Given the description of an element on the screen output the (x, y) to click on. 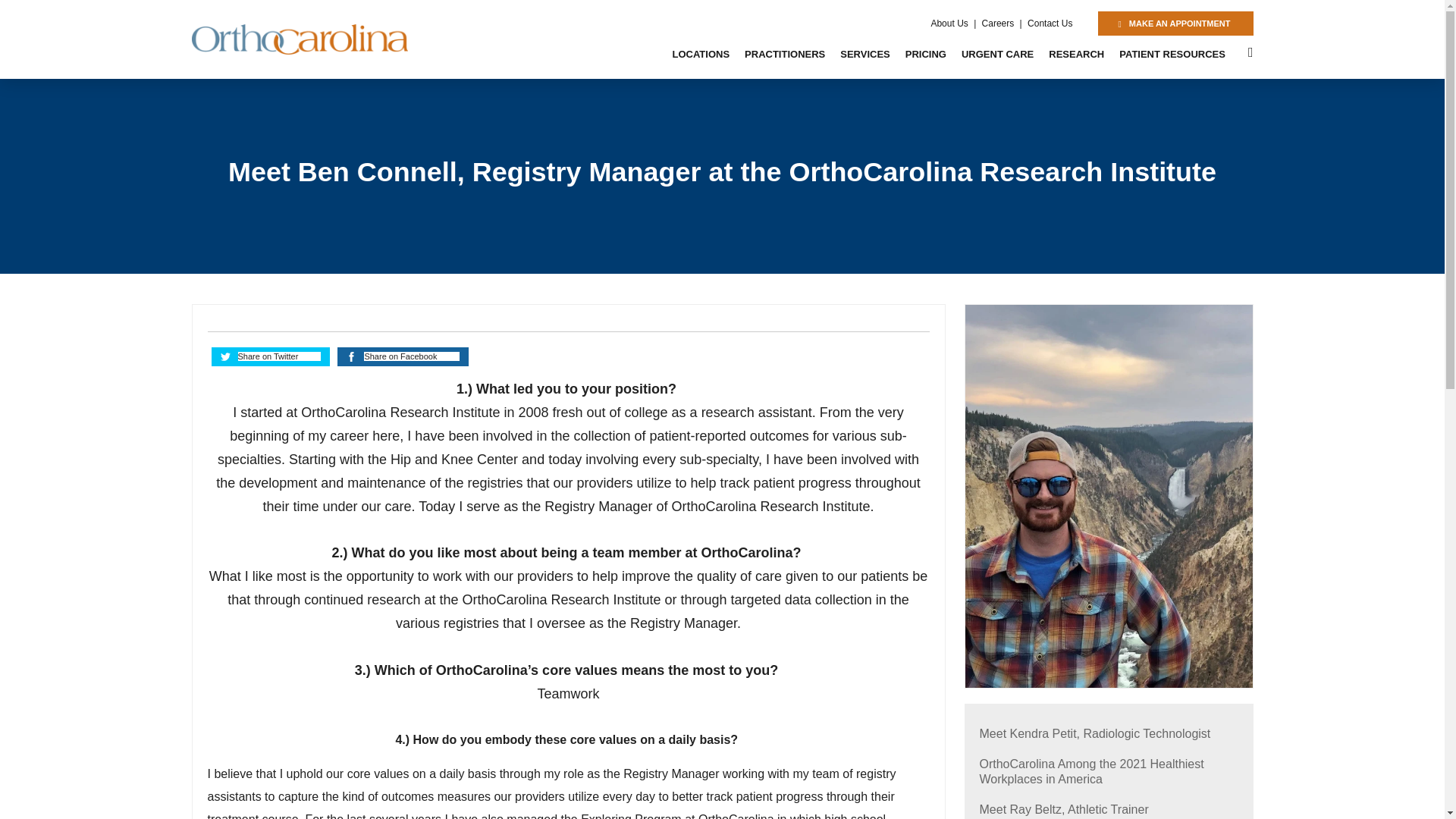
PRACTITIONERS (784, 54)
RESEARCH (1076, 54)
Contact Us (1050, 23)
LOCATIONS (699, 54)
SERVICES (865, 54)
URGENT CARE (997, 54)
Careers (997, 23)
  MAKE AN APPOINTMENT (1174, 23)
PATIENT RESOURCES (1172, 54)
About Us (949, 23)
